Given the description of an element on the screen output the (x, y) to click on. 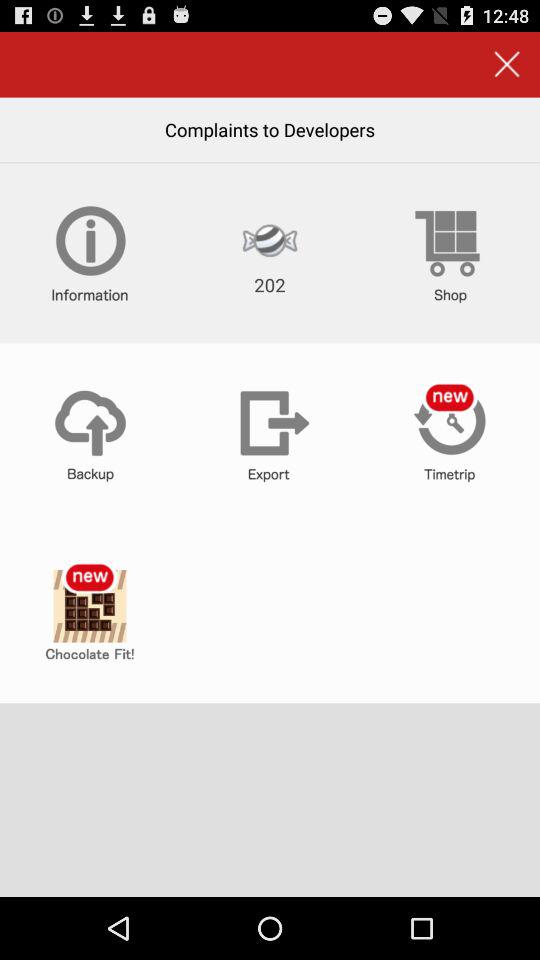
open the button above the complaints to developers (506, 64)
